Given the description of an element on the screen output the (x, y) to click on. 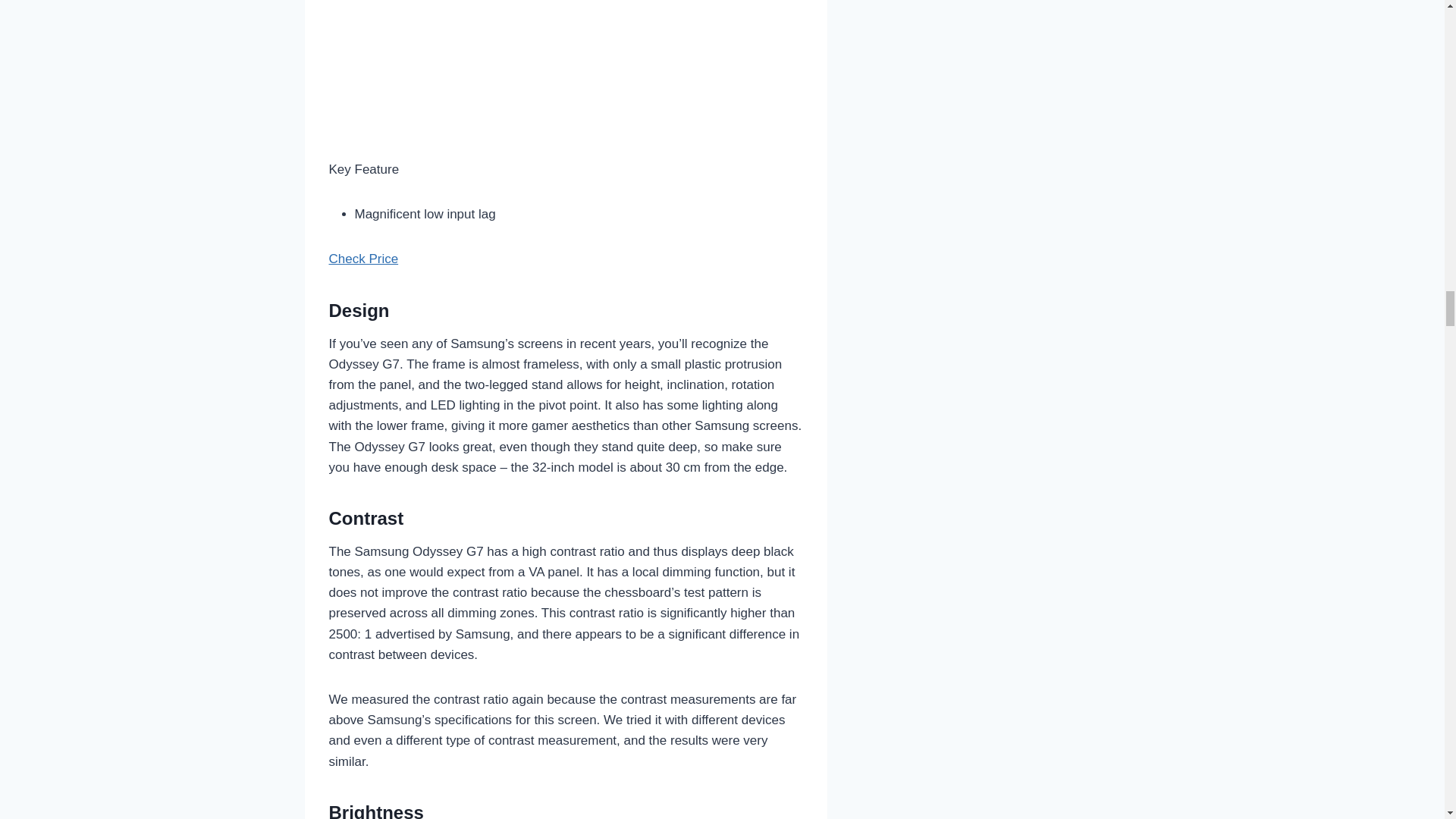
Check Price (363, 258)
